Given the description of an element on the screen output the (x, y) to click on. 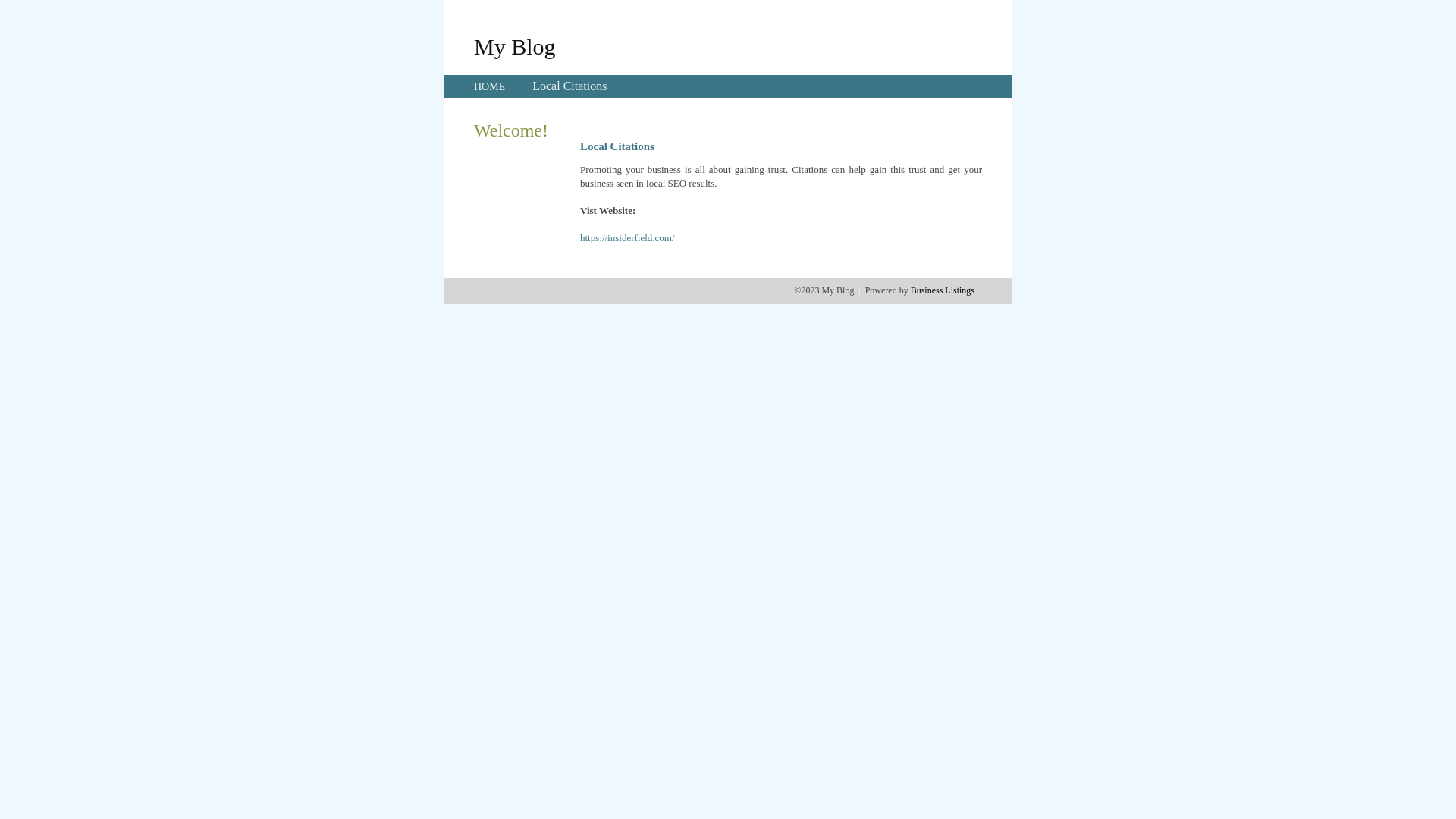
https://insiderfield.com/ Element type: text (627, 237)
Business Listings Element type: text (942, 290)
HOME Element type: text (489, 86)
My Blog Element type: text (514, 46)
Local Citations Element type: text (569, 85)
